Given the description of an element on the screen output the (x, y) to click on. 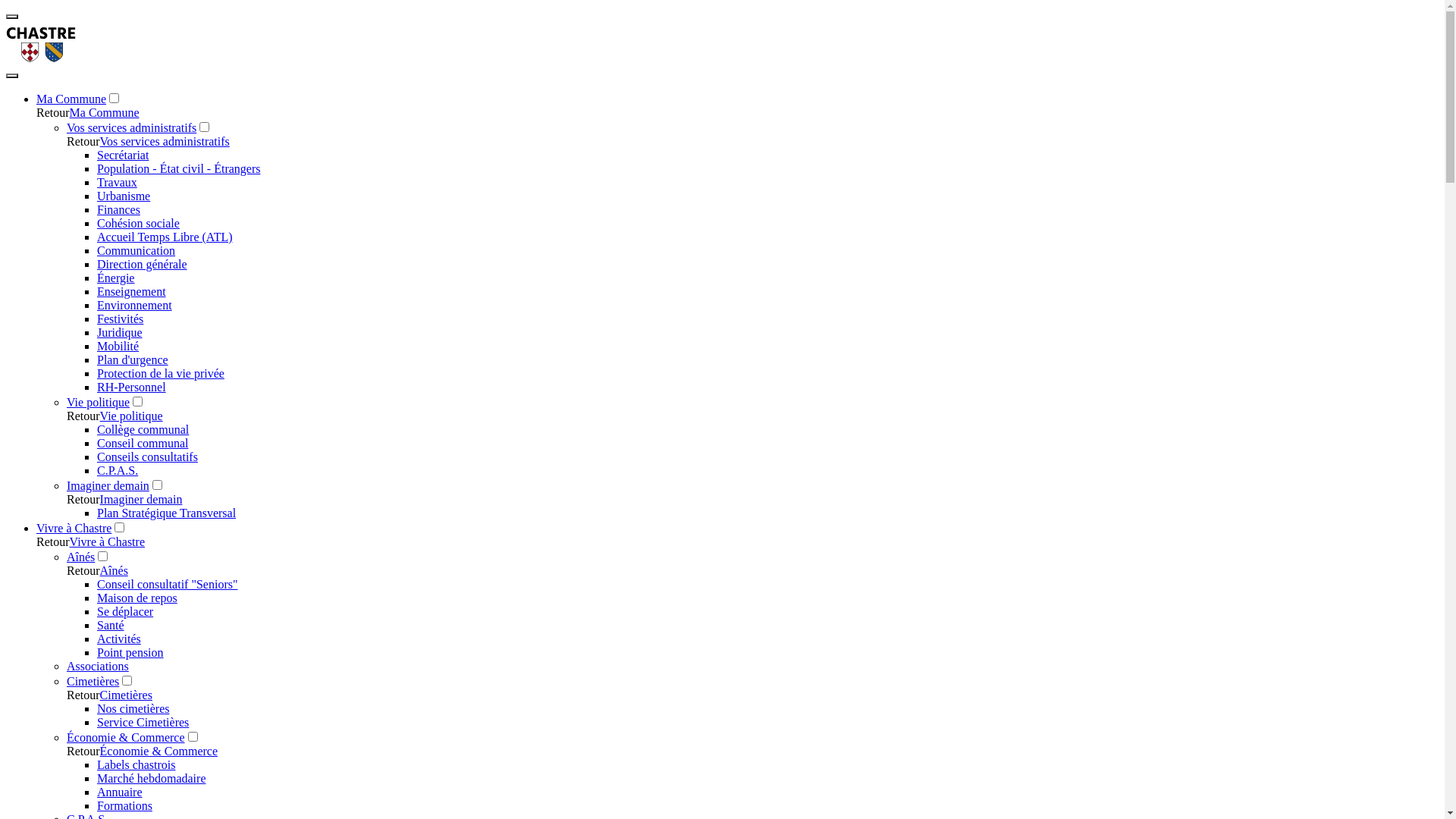
Retour Element type: text (52, 541)
Maison de repos Element type: text (137, 597)
Annuaire Element type: text (119, 791)
Ma Commune Element type: text (71, 98)
Formations Element type: text (124, 805)
Labels chastrois Element type: text (136, 764)
Travaux Element type: text (117, 181)
RH-Personnel Element type: text (131, 386)
Plan d'urgence Element type: text (132, 359)
Retour Element type: text (83, 750)
Environnement Element type: text (134, 304)
Retour Element type: text (52, 112)
Retour Element type: text (83, 140)
Vos services administratifs Element type: text (164, 140)
Vie politique Element type: text (97, 401)
Communication Element type: text (136, 250)
C.P.A.S. Element type: text (117, 470)
Conseil consultatif "Seniors" Element type: text (167, 583)
Urbanisme Element type: text (123, 195)
Finances Element type: text (118, 209)
Conseils consultatifs Element type: text (147, 456)
Imaginer demain Element type: text (141, 498)
Vos services administratifs Element type: text (131, 127)
Point pension Element type: text (130, 652)
Associations Element type: text (97, 665)
Vie politique Element type: text (131, 415)
Retour Element type: text (83, 694)
Accueil Temps Libre (ATL) Element type: text (164, 236)
Retour Element type: text (83, 498)
Chastre Element type: hover (41, 57)
Retour Element type: text (83, 570)
Ma Commune Element type: text (104, 112)
Imaginer demain Element type: text (107, 485)
Juridique Element type: text (119, 332)
Conseil communal Element type: text (142, 442)
Retour Element type: text (83, 415)
Enseignement Element type: text (131, 291)
